Given the description of an element on the screen output the (x, y) to click on. 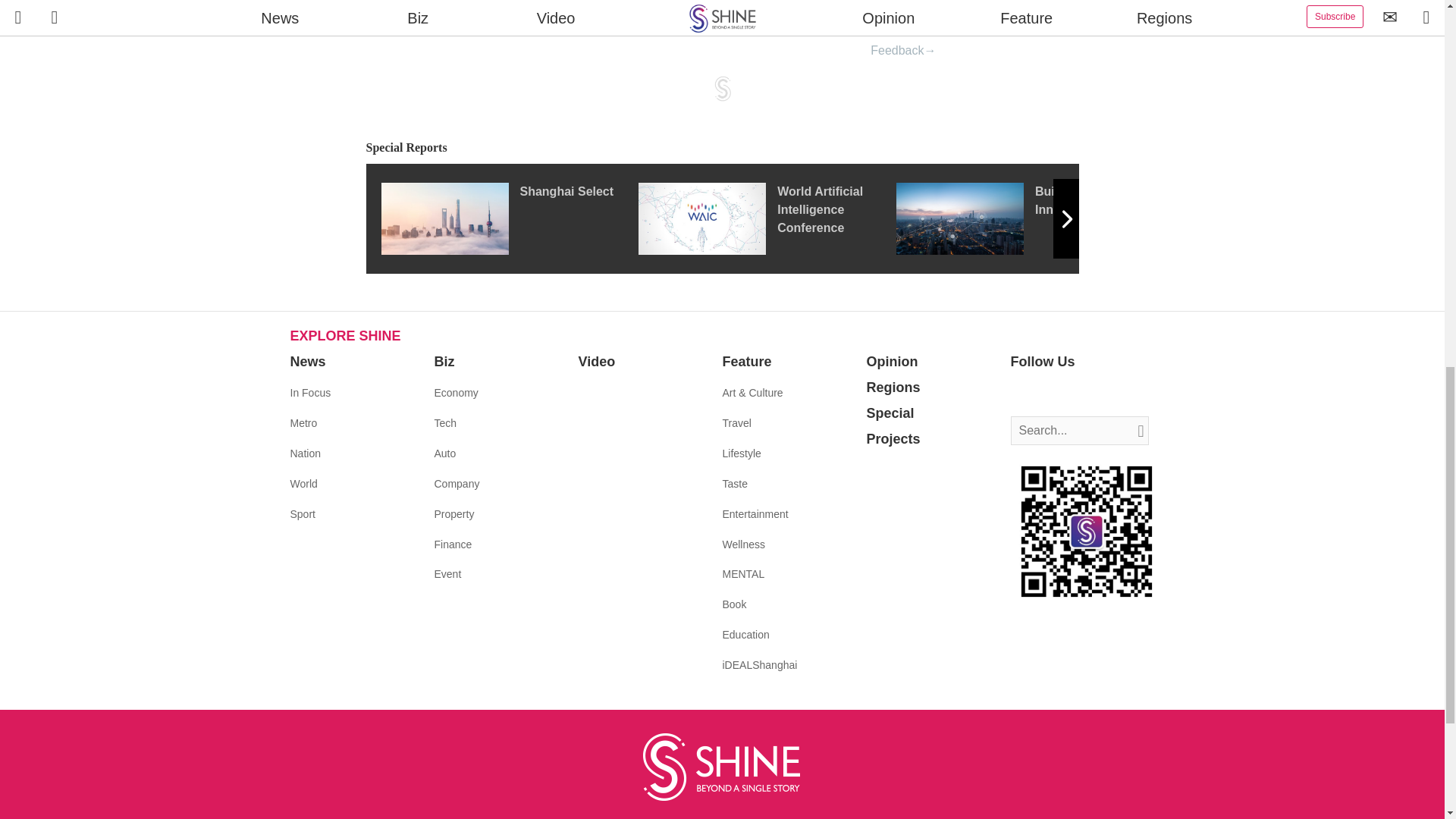
Follow us on Youtube (1090, 393)
Follow us on Instagram (1067, 393)
Shanghai Select (508, 217)
Special Reports (721, 148)
World Artificial Intelligence Conference (767, 217)
Follow us on Facebook (1021, 393)
Building an Innovation Hub (1024, 217)
Follow us on Wechat (1112, 393)
Follow us on Twitter (1044, 393)
